Given the description of an element on the screen output the (x, y) to click on. 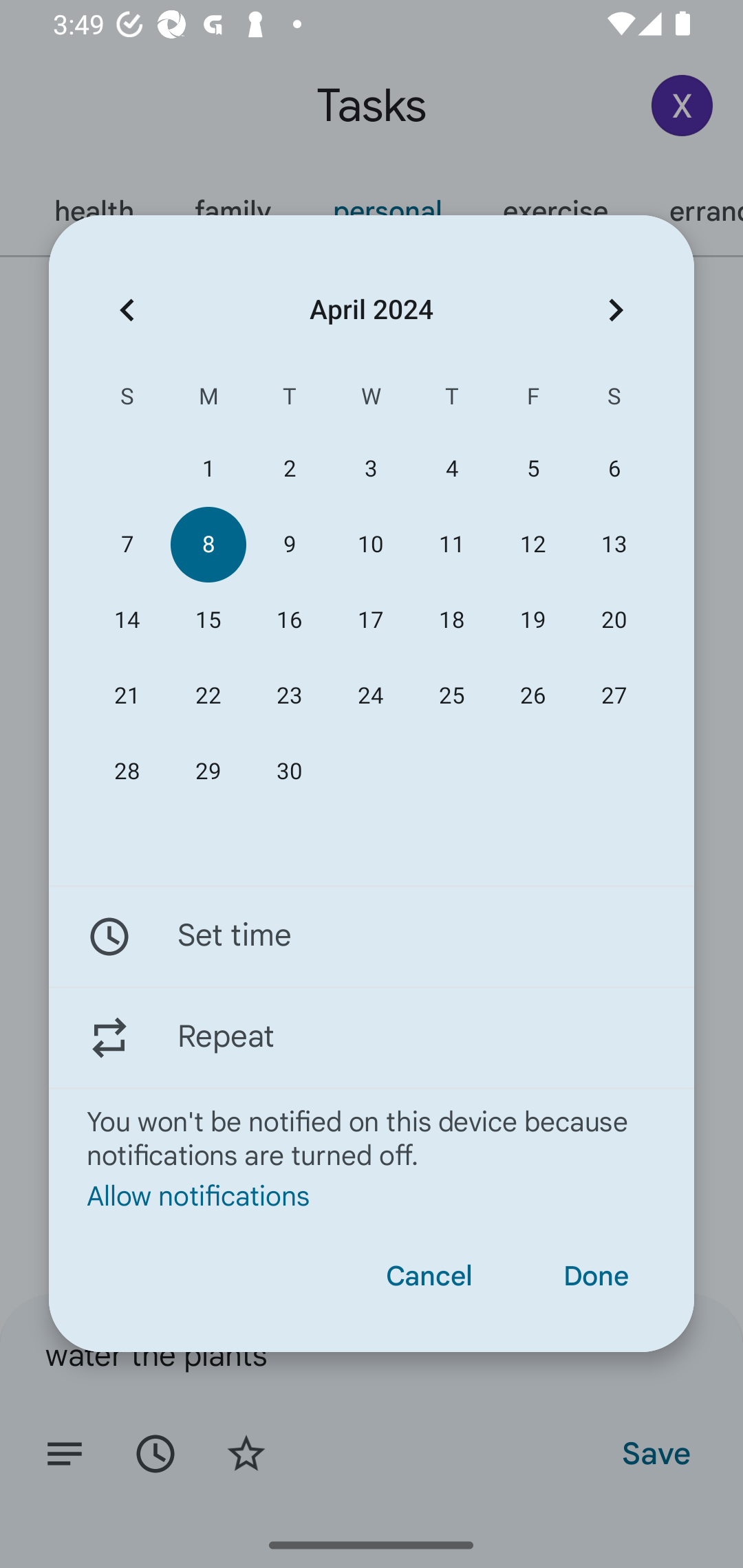
Previous month (126, 309)
Next month (615, 309)
1 01 April 2024 (207, 468)
2 02 April 2024 (288, 468)
3 03 April 2024 (370, 468)
4 04 April 2024 (451, 468)
5 05 April 2024 (532, 468)
6 06 April 2024 (613, 468)
7 07 April 2024 (126, 543)
8 08 April 2024 (207, 543)
9 09 April 2024 (288, 543)
10 10 April 2024 (370, 543)
11 11 April 2024 (451, 543)
12 12 April 2024 (532, 543)
13 13 April 2024 (613, 543)
14 14 April 2024 (126, 619)
15 15 April 2024 (207, 619)
16 16 April 2024 (288, 619)
17 17 April 2024 (370, 619)
18 18 April 2024 (451, 619)
19 19 April 2024 (532, 619)
20 20 April 2024 (613, 619)
21 21 April 2024 (126, 695)
22 22 April 2024 (207, 695)
23 23 April 2024 (288, 695)
24 24 April 2024 (370, 695)
25 25 April 2024 (451, 695)
26 26 April 2024 (532, 695)
27 27 April 2024 (613, 695)
28 28 April 2024 (126, 771)
29 29 April 2024 (207, 771)
30 30 April 2024 (288, 771)
Set time (371, 936)
Repeat (371, 1036)
Allow notifications (371, 1195)
Cancel (429, 1275)
Done (595, 1275)
